Given the description of an element on the screen output the (x, y) to click on. 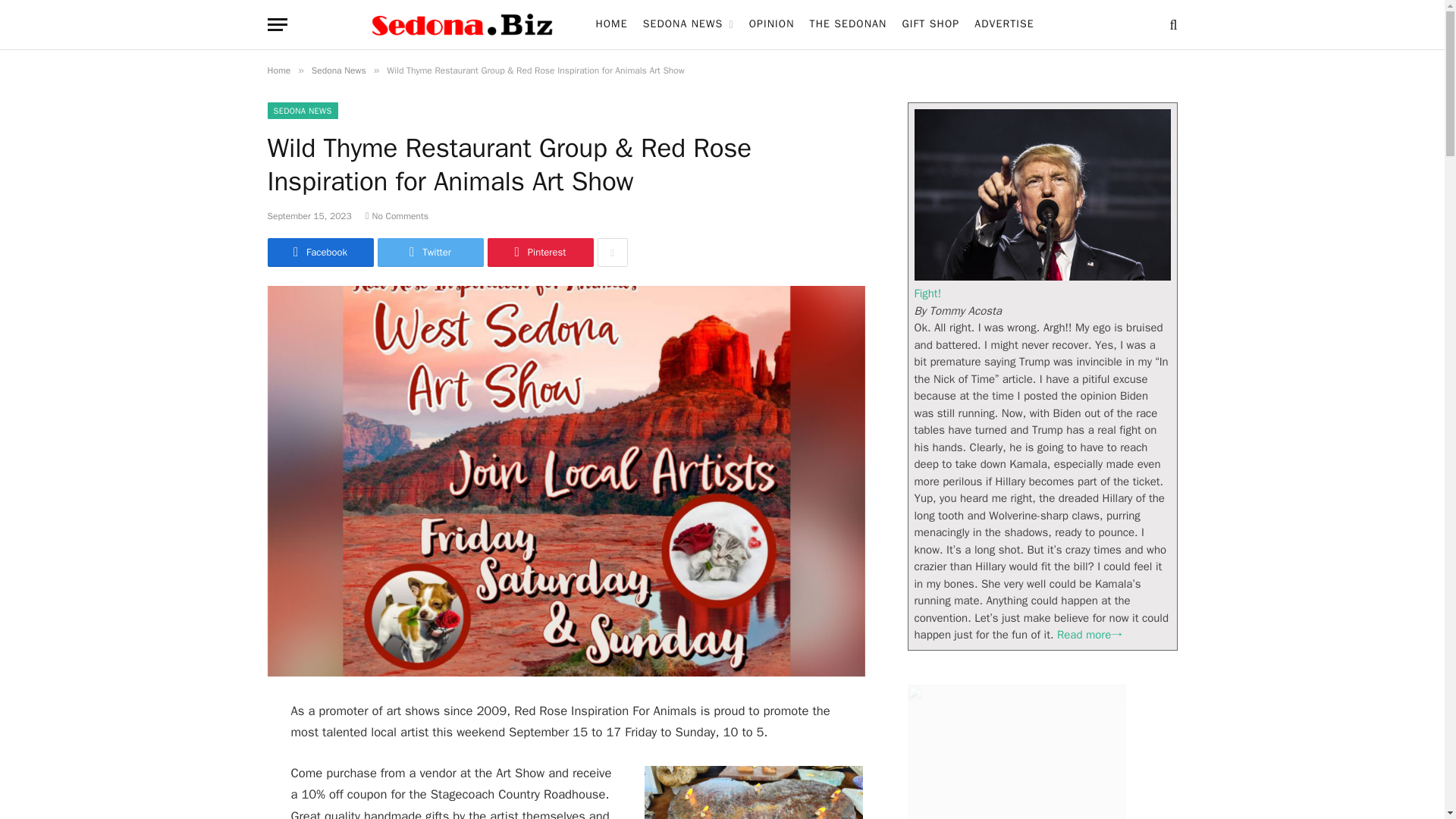
Home (277, 70)
SEDONA NEWS (687, 24)
Share on Twitter (430, 252)
GIFT SHOP (929, 24)
HOME (611, 24)
Twitter (430, 252)
Sedona News (338, 70)
Share on Facebook (319, 252)
Facebook (319, 252)
Show More Social Sharing (611, 252)
SEDONA NEWS (301, 110)
THE SEDONAN (848, 24)
No Comments (396, 215)
Share on Pinterest (539, 252)
ADVERTISE (1004, 24)
